Given the description of an element on the screen output the (x, y) to click on. 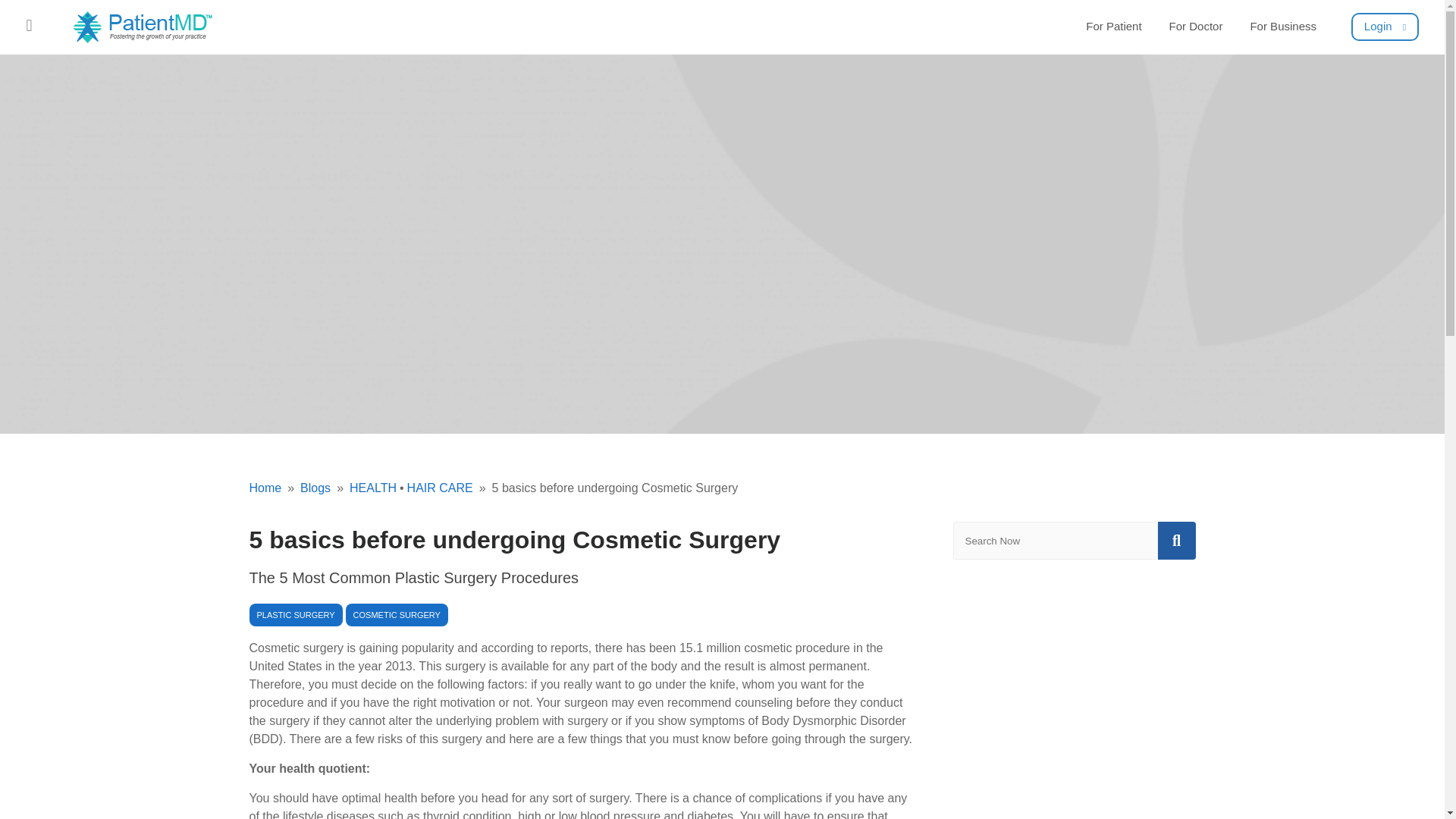
Blogs (305, 487)
HEALTH (363, 487)
HAIR CARE (434, 487)
PLASTIC SURGERY (295, 614)
COSMETIC SURGERY (397, 614)
For Patient (1113, 26)
Toggle side menu (28, 24)
For Business (1282, 26)
5 basics before undergoing Cosmetic Surgery (605, 487)
For Doctor (1195, 26)
